Given the description of an element on the screen output the (x, y) to click on. 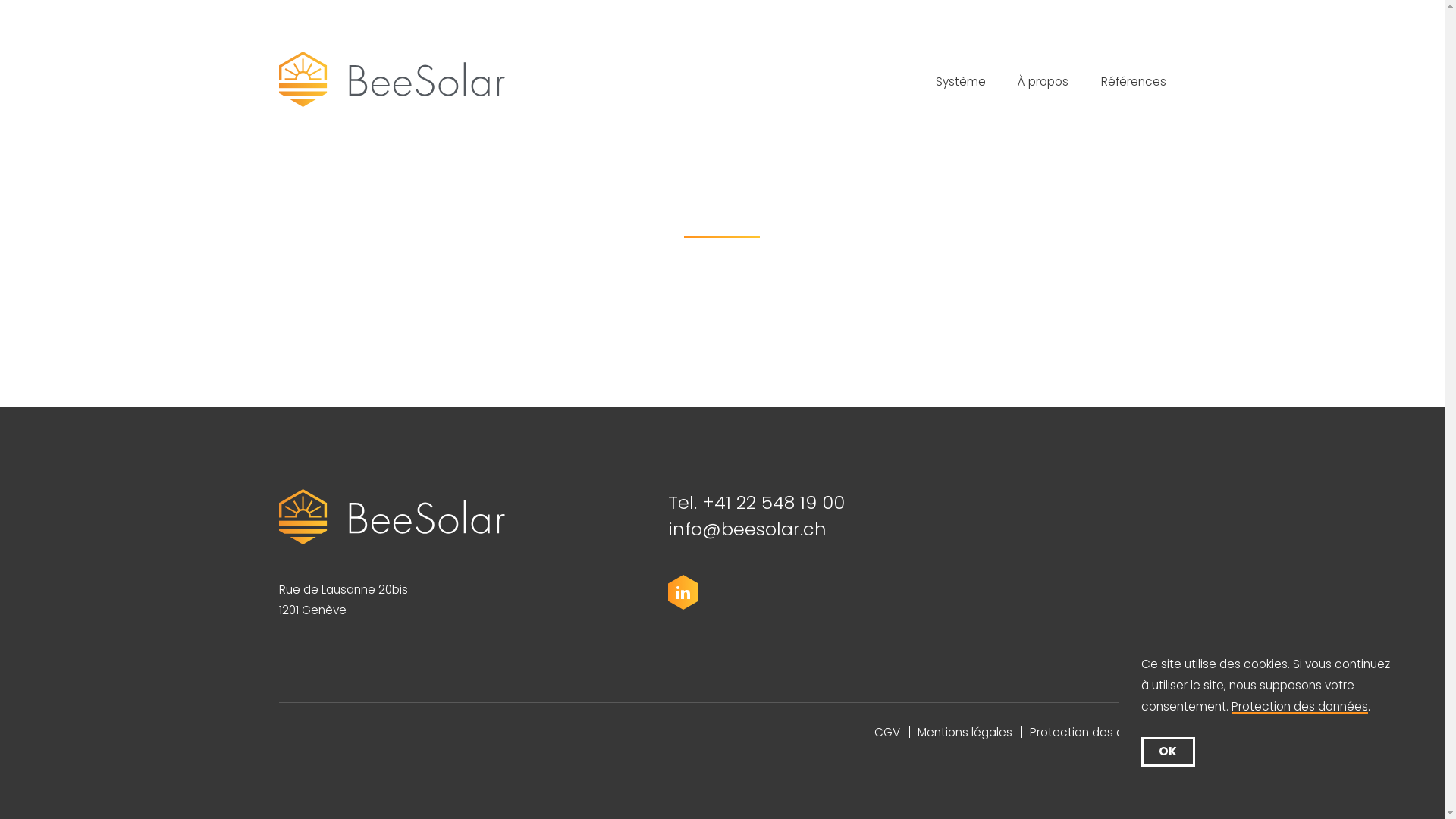
Linkedin Element type: text (683, 592)
OK Element type: text (1168, 752)
info@beesolar.ch Element type: text (747, 528)
+41 22 548 19 00 Element type: text (773, 501)
CGV Element type: text (886, 732)
